Given the description of an element on the screen output the (x, y) to click on. 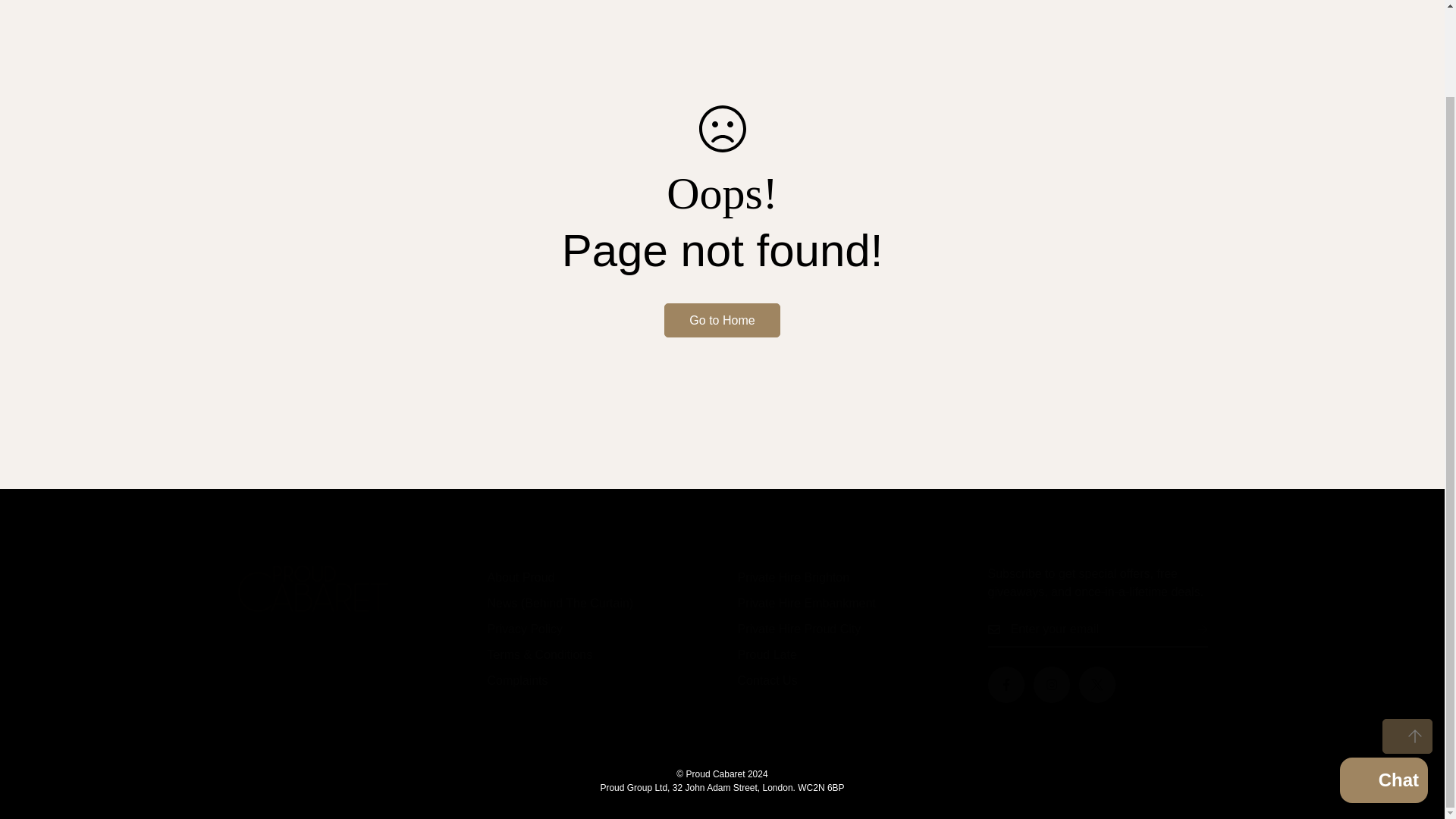
Shopify online store chat (1383, 683)
Private Hire Embankment (805, 603)
Go to Home (720, 320)
Private Hire Brighton (792, 576)
Complaints (516, 680)
Proud Late (766, 654)
Private Hire Proud City (798, 628)
Contact Us (766, 680)
